Given the description of an element on the screen output the (x, y) to click on. 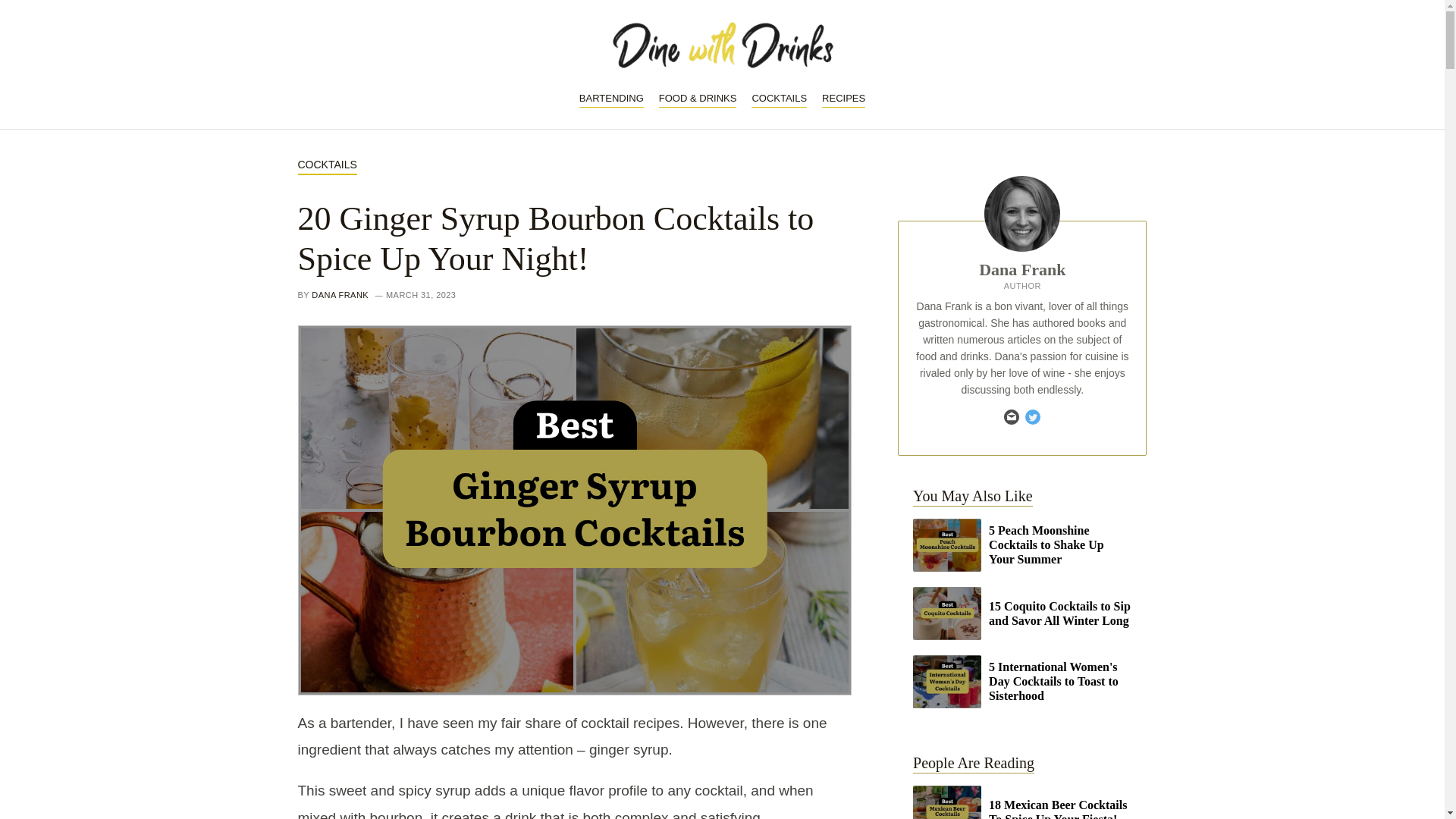
DANA FRANK (339, 294)
COCKTAILS (326, 165)
RECIPES (843, 98)
BARTENDING (611, 98)
COCKTAILS (778, 98)
